Given the description of an element on the screen output the (x, y) to click on. 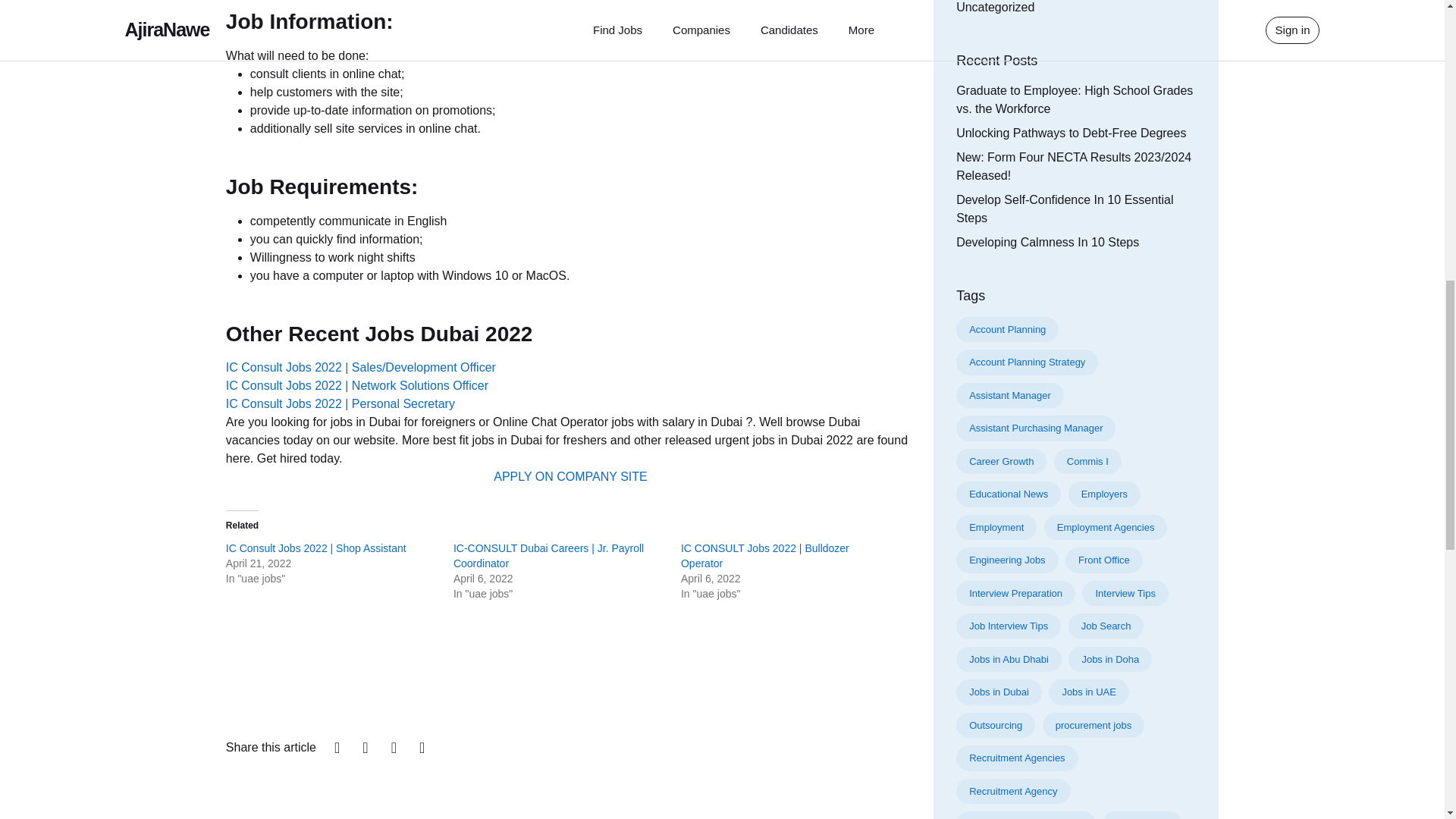
APPLY ON COMPANY SITE (569, 476)
